Given the description of an element on the screen output the (x, y) to click on. 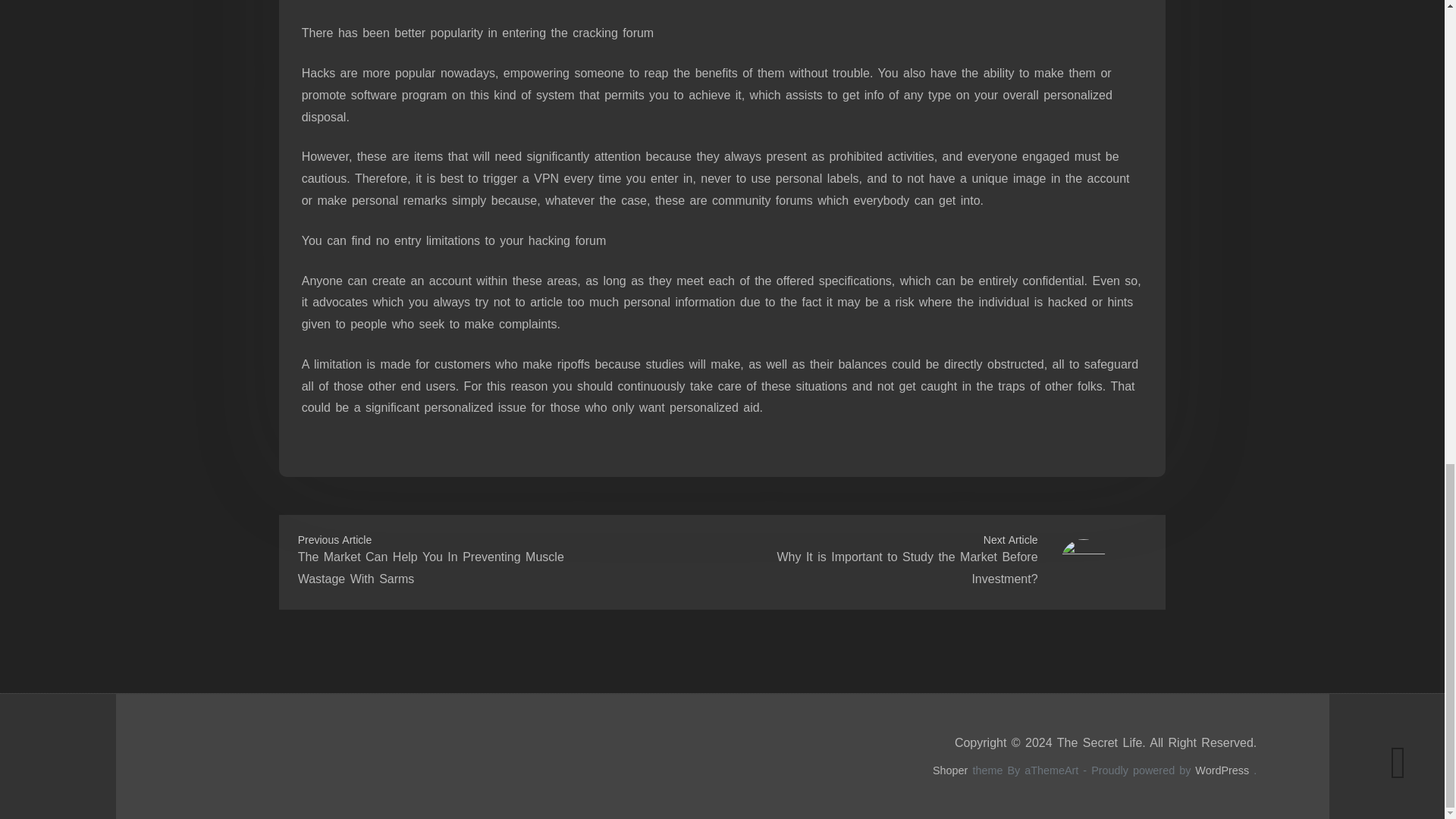
Why It is Important to Study the Market Before Investment? (906, 567)
Shoper (950, 770)
WordPress (1222, 770)
